Given the description of an element on the screen output the (x, y) to click on. 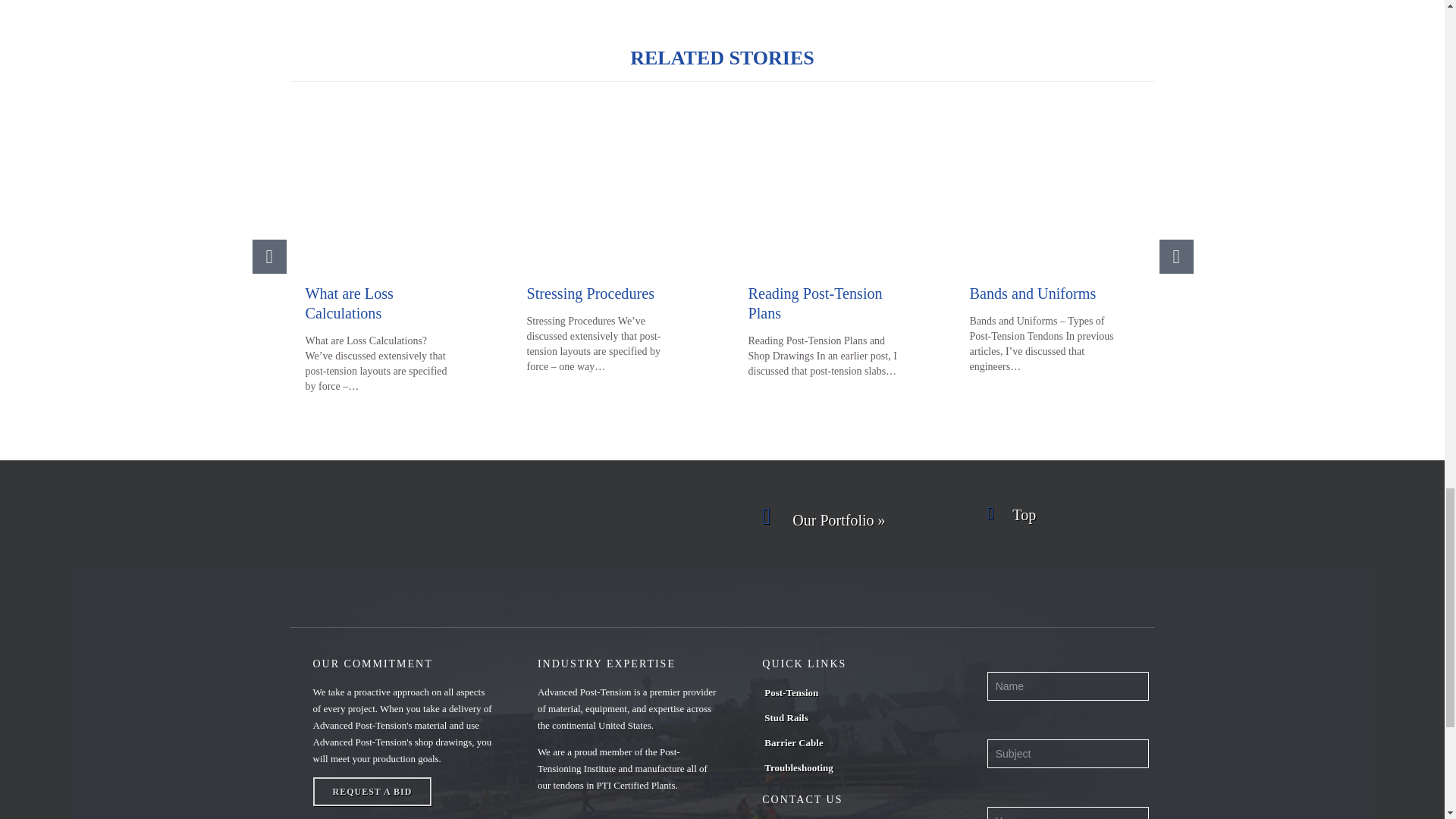
What are Loss Calculations (348, 303)
Stressing Procedures (589, 293)
What are Loss Calculations (388, 192)
What are Loss Calculations (348, 303)
